Given the description of an element on the screen output the (x, y) to click on. 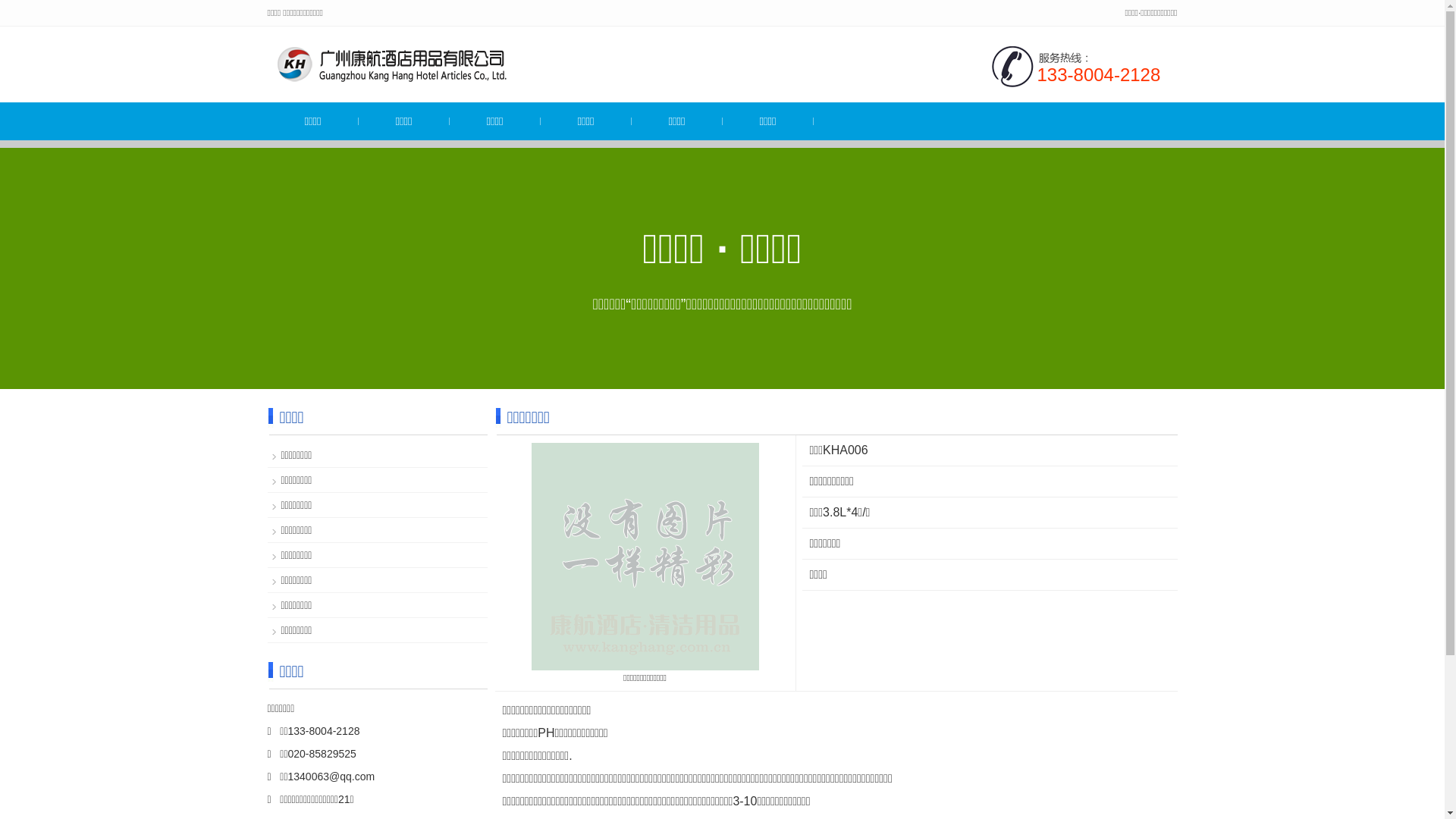
133-8004-2128 Element type: text (1099, 74)
